Given the description of an element on the screen output the (x, y) to click on. 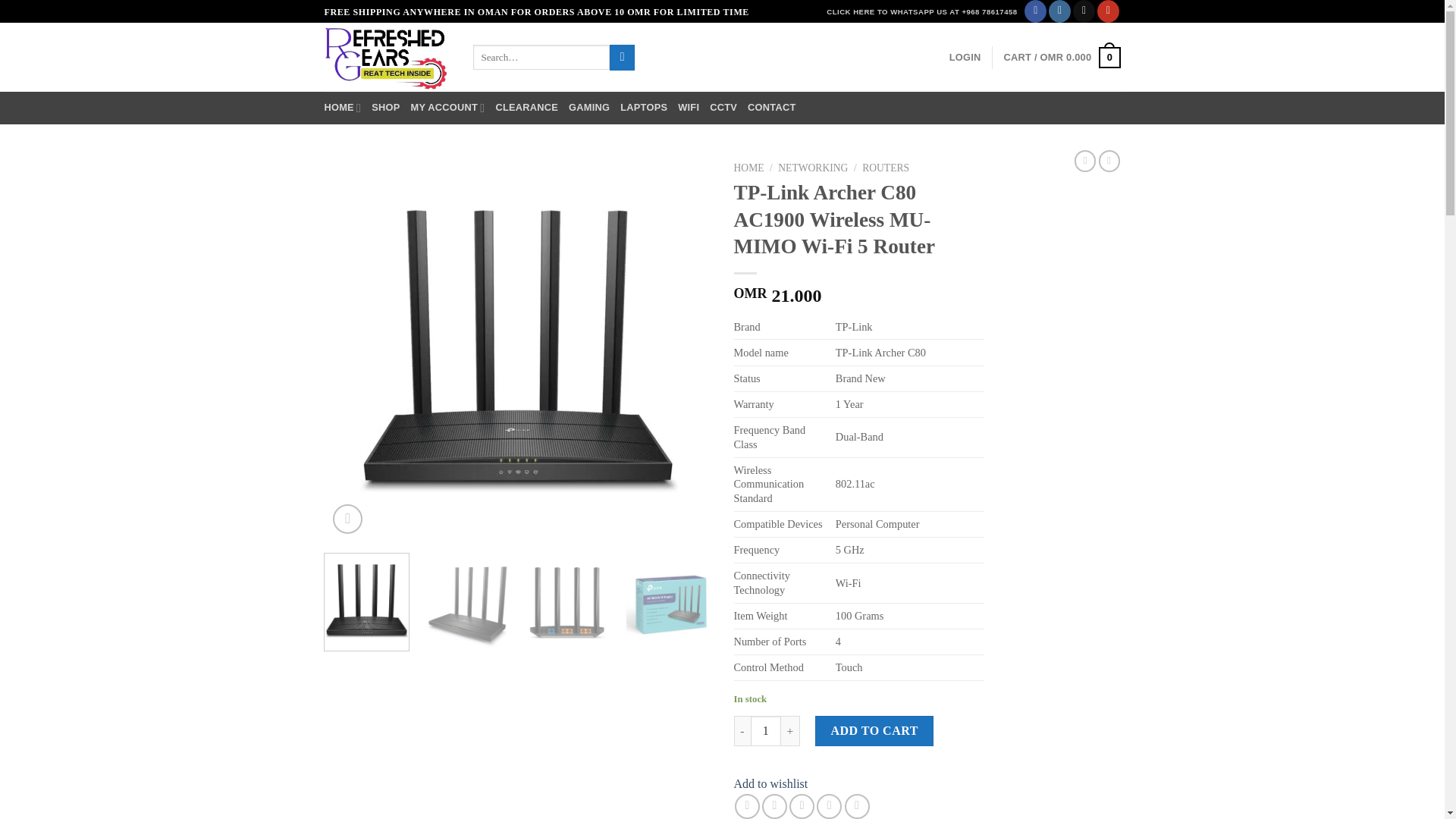
SHOP (384, 107)
Search (622, 57)
Refreshed Gears - Great Tech Inside (386, 57)
Follow on YouTube (1108, 11)
Follow on Facebook (1035, 11)
Login (965, 57)
Cart (1062, 57)
MY ACCOUNT (447, 107)
LOGIN (965, 57)
1 (765, 730)
